Given the description of an element on the screen output the (x, y) to click on. 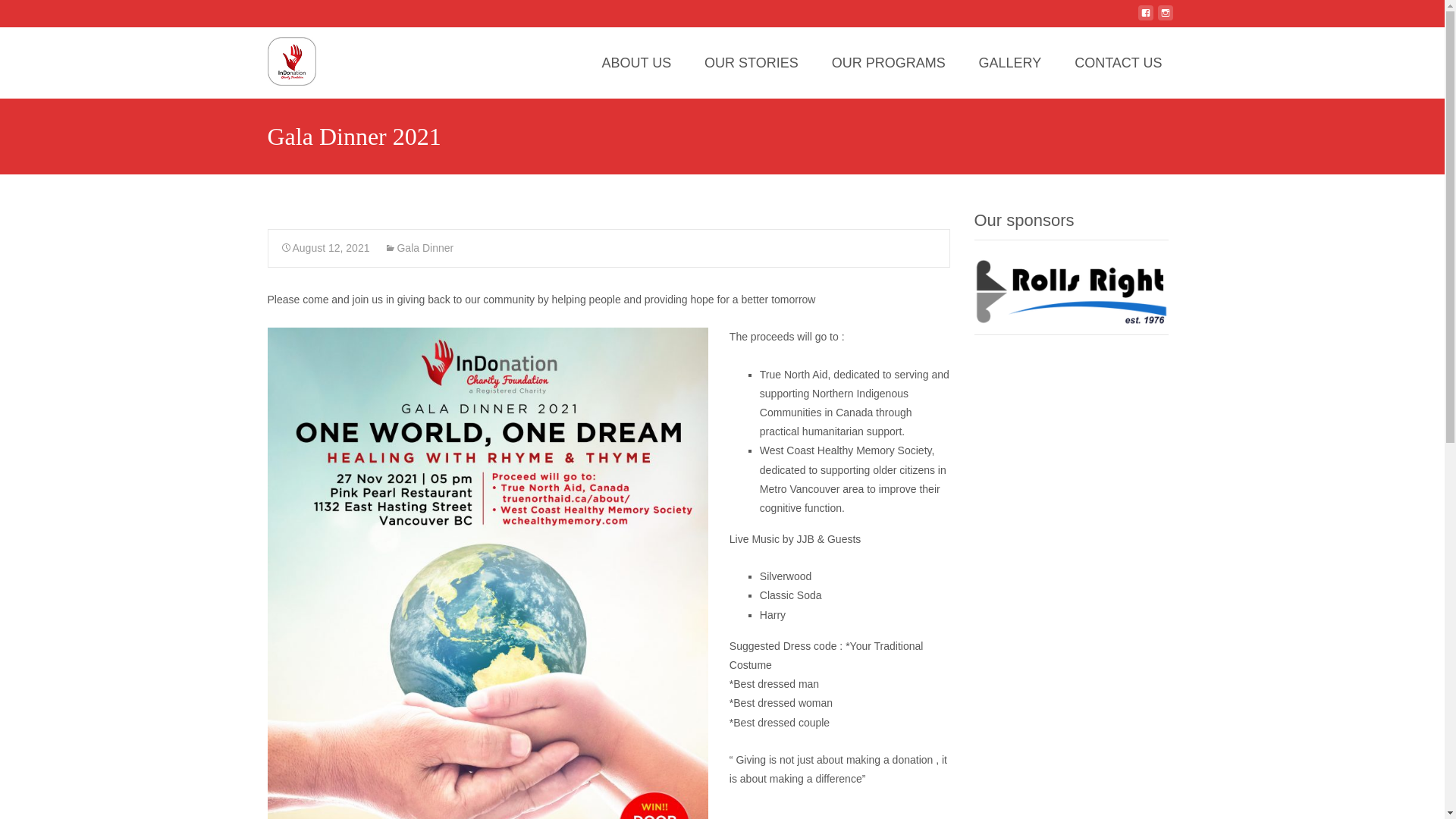
CONTACT US (1117, 62)
Permalink to Gala Dinner 2021 (325, 247)
instagram (1164, 19)
OUR STORIES (750, 62)
facebook (1145, 19)
ABOUT US (635, 62)
Gala Dinner (418, 247)
InDonation (279, 57)
OUR PROGRAMS (888, 62)
GALLERY (1010, 62)
